Given the description of an element on the screen output the (x, y) to click on. 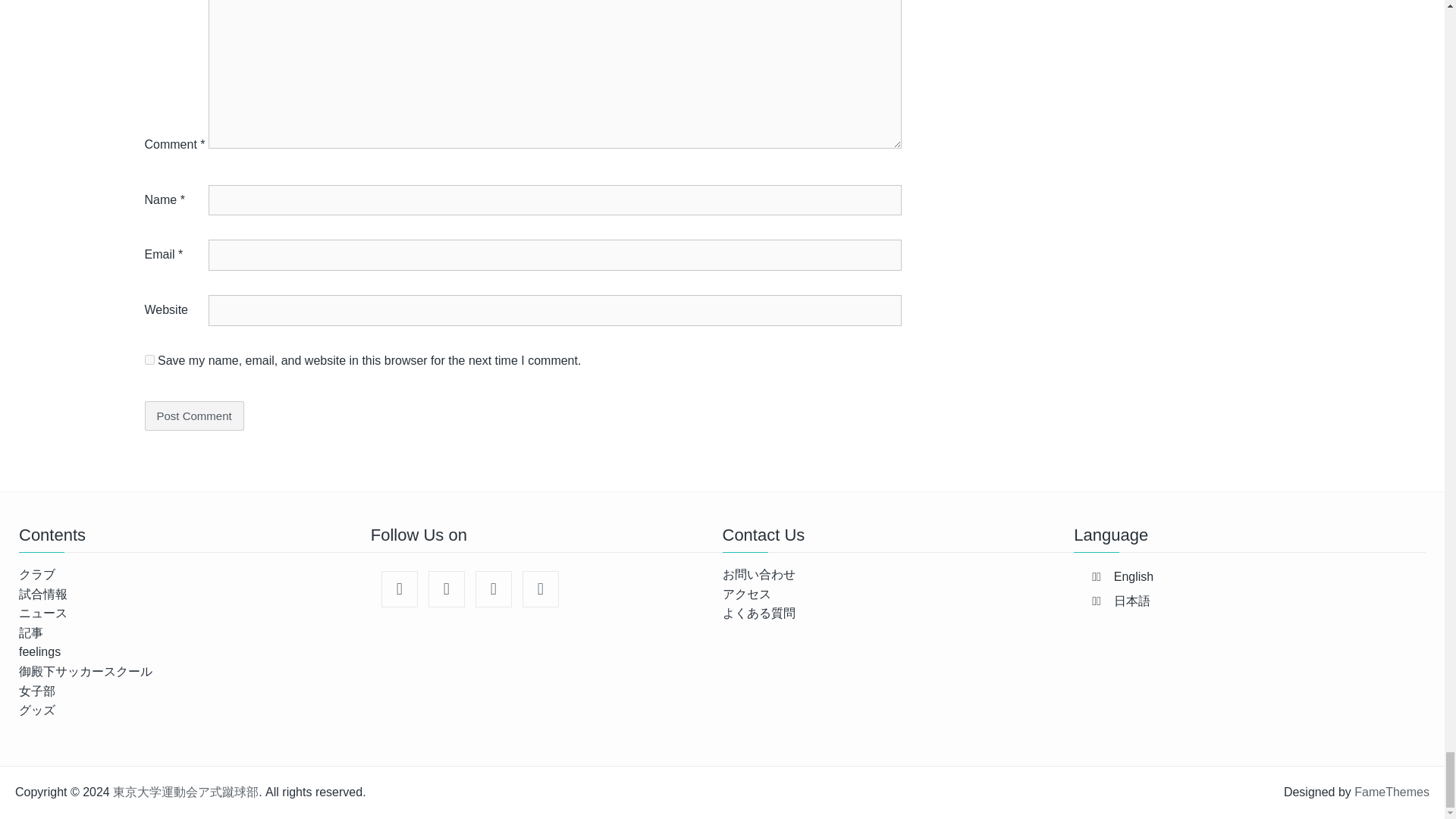
yes (149, 359)
English (1133, 576)
Japanese (1131, 600)
Post Comment (193, 415)
